Given the description of an element on the screen output the (x, y) to click on. 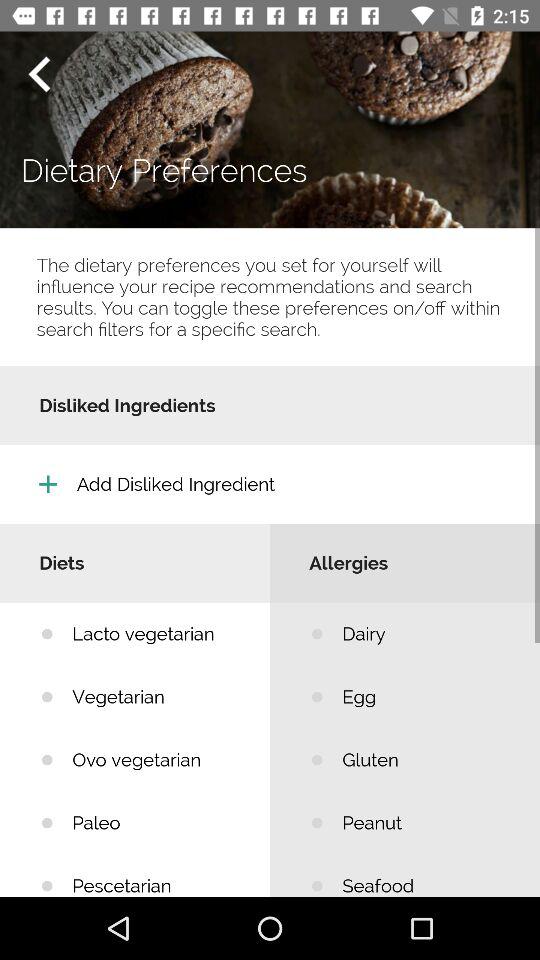
jump to the paleo icon (156, 822)
